Given the description of an element on the screen output the (x, y) to click on. 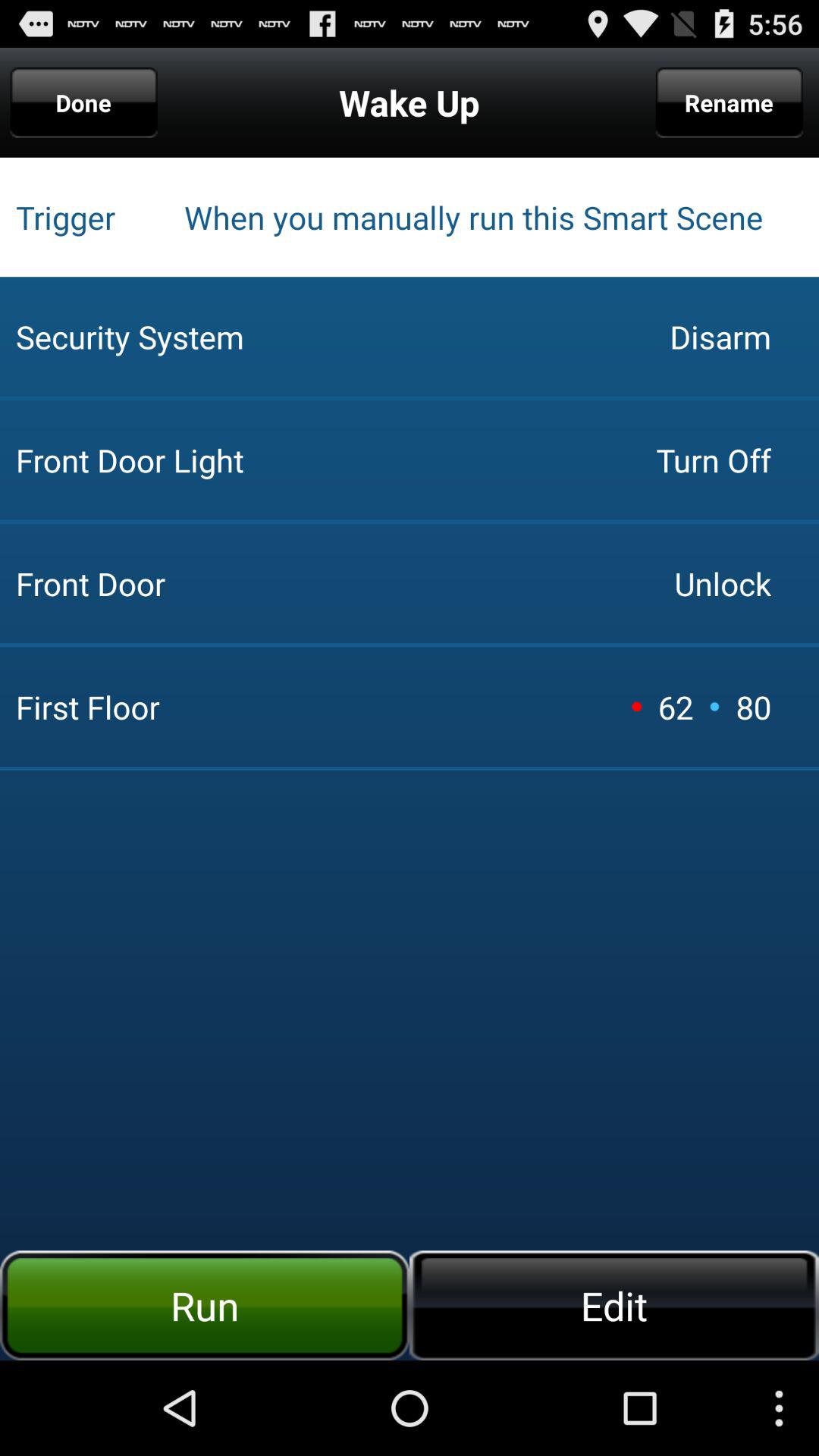
choose item below the first floor item (614, 1305)
